Given the description of an element on the screen output the (x, y) to click on. 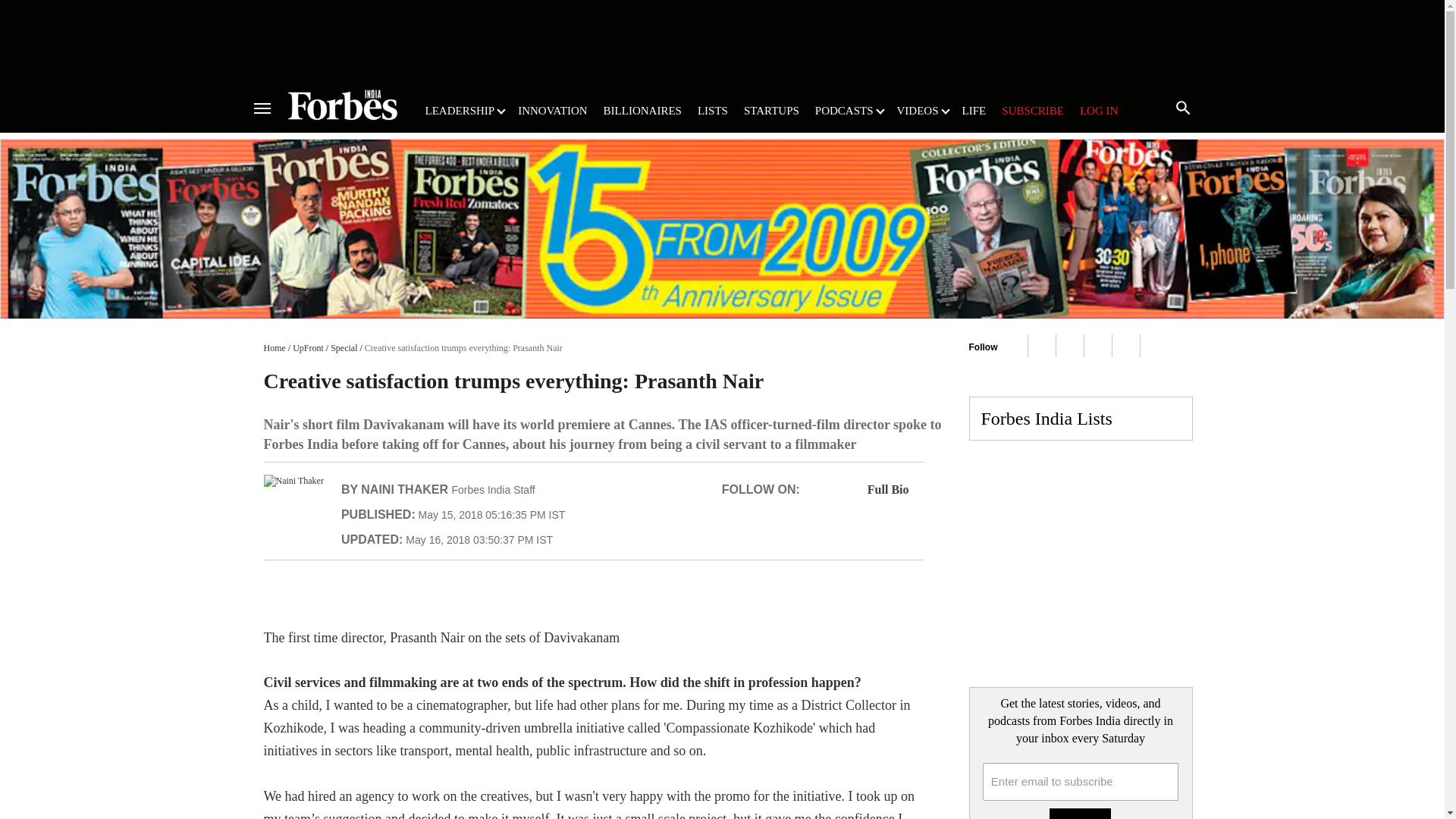
Naini Thaker (293, 481)
